Given the description of an element on the screen output the (x, y) to click on. 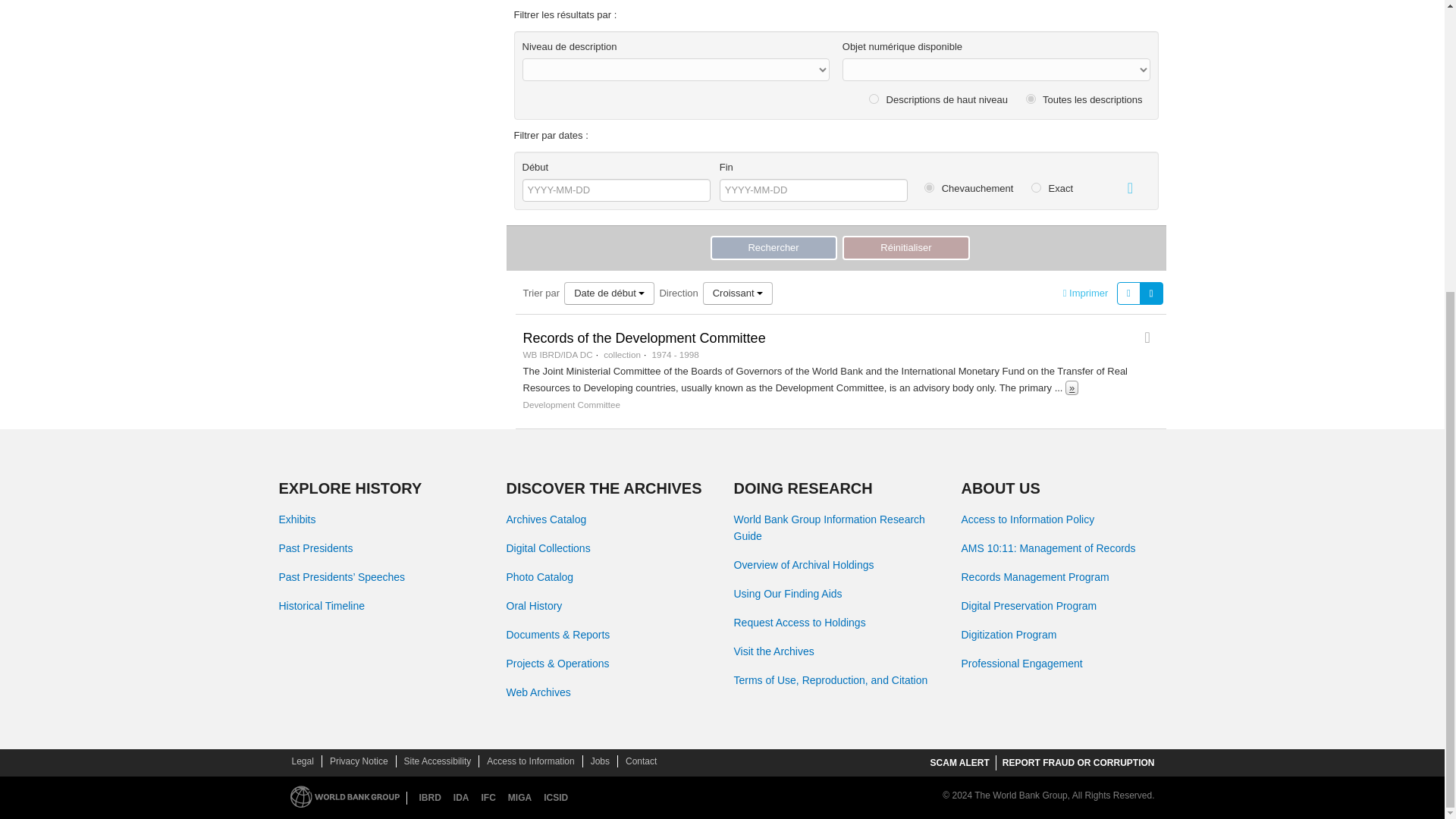
Rechercher (772, 247)
International Development Association (461, 797)
Imprimer (1085, 292)
Multilateral Investment Guarantee Agency (519, 797)
Records of the Development Committee (643, 337)
World Bank Group logo (343, 796)
International Finance Corporation (489, 797)
inclusive (929, 187)
Rechercher (772, 247)
1 (874, 99)
0 (1030, 99)
International Bank for Reconstruction and Development (429, 797)
exact (1035, 187)
